Given the description of an element on the screen output the (x, y) to click on. 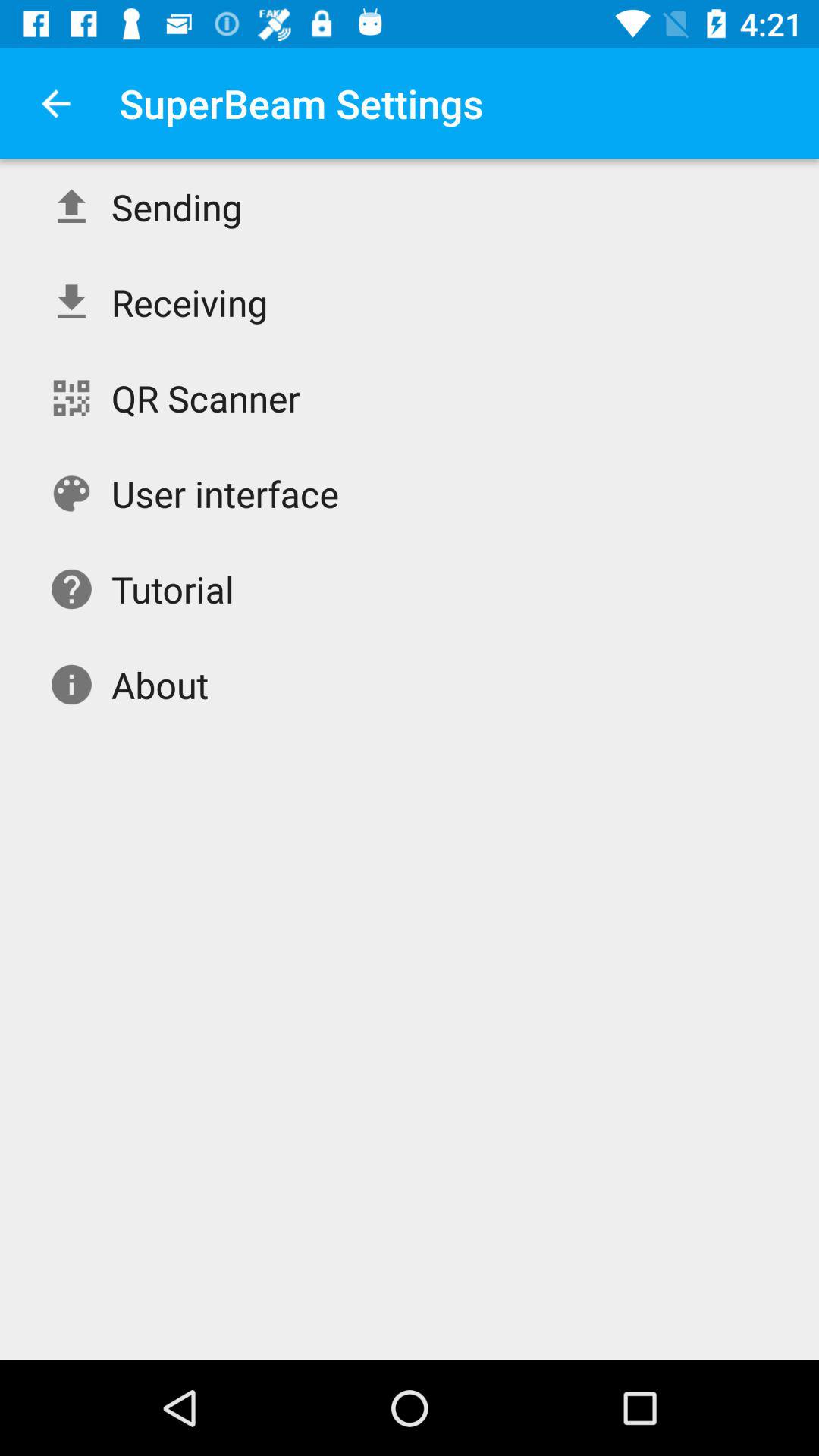
swipe to about (159, 684)
